Given the description of an element on the screen output the (x, y) to click on. 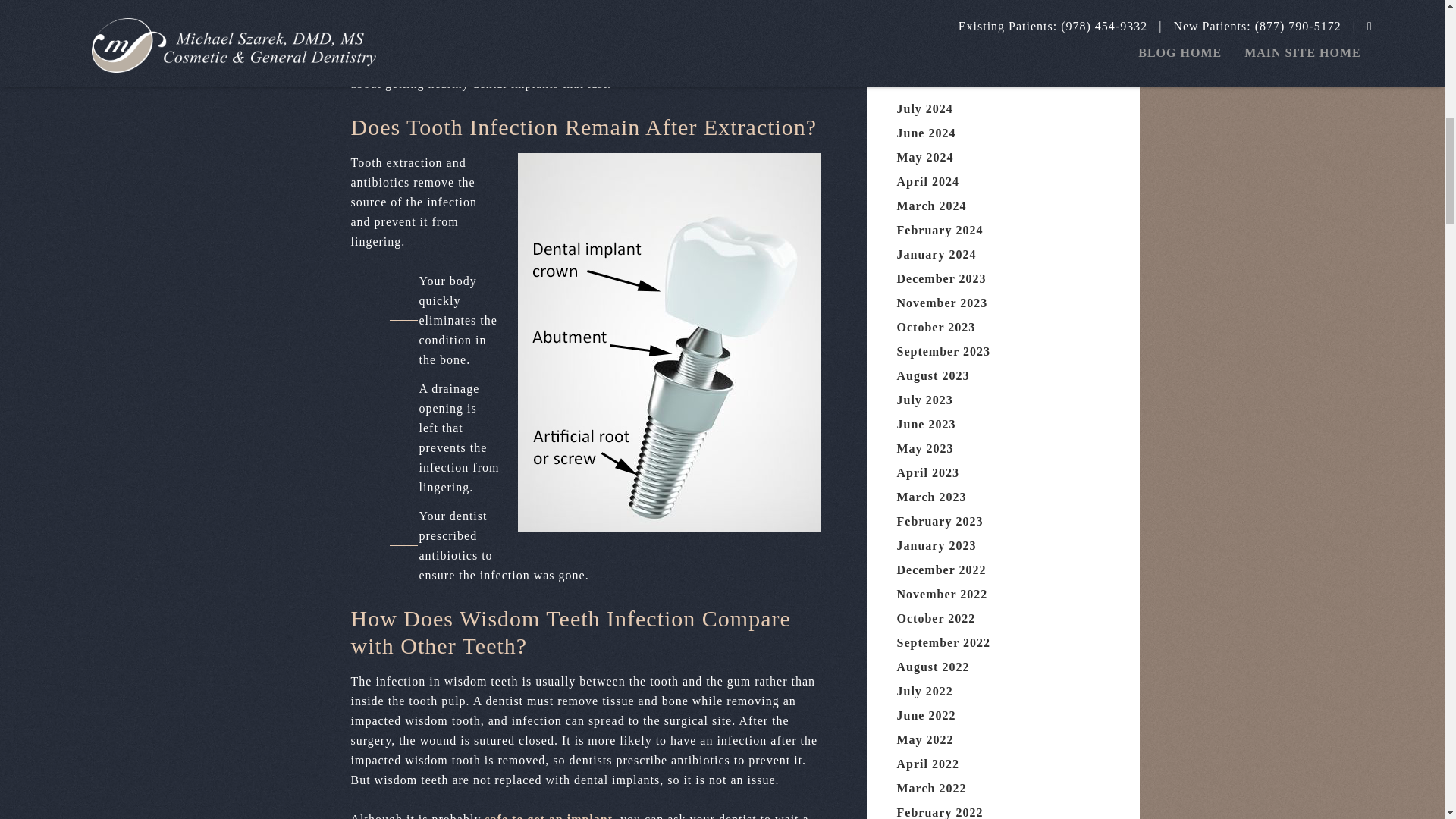
April 2024 (927, 181)
December 2023 (940, 278)
February 2024 (939, 229)
July 2023 (924, 399)
safe to get an implant (548, 816)
May 2023 (924, 448)
September 2023 (943, 350)
November 2023 (941, 302)
August 2023 (932, 375)
June 2023 (925, 423)
